Given the description of an element on the screen output the (x, y) to click on. 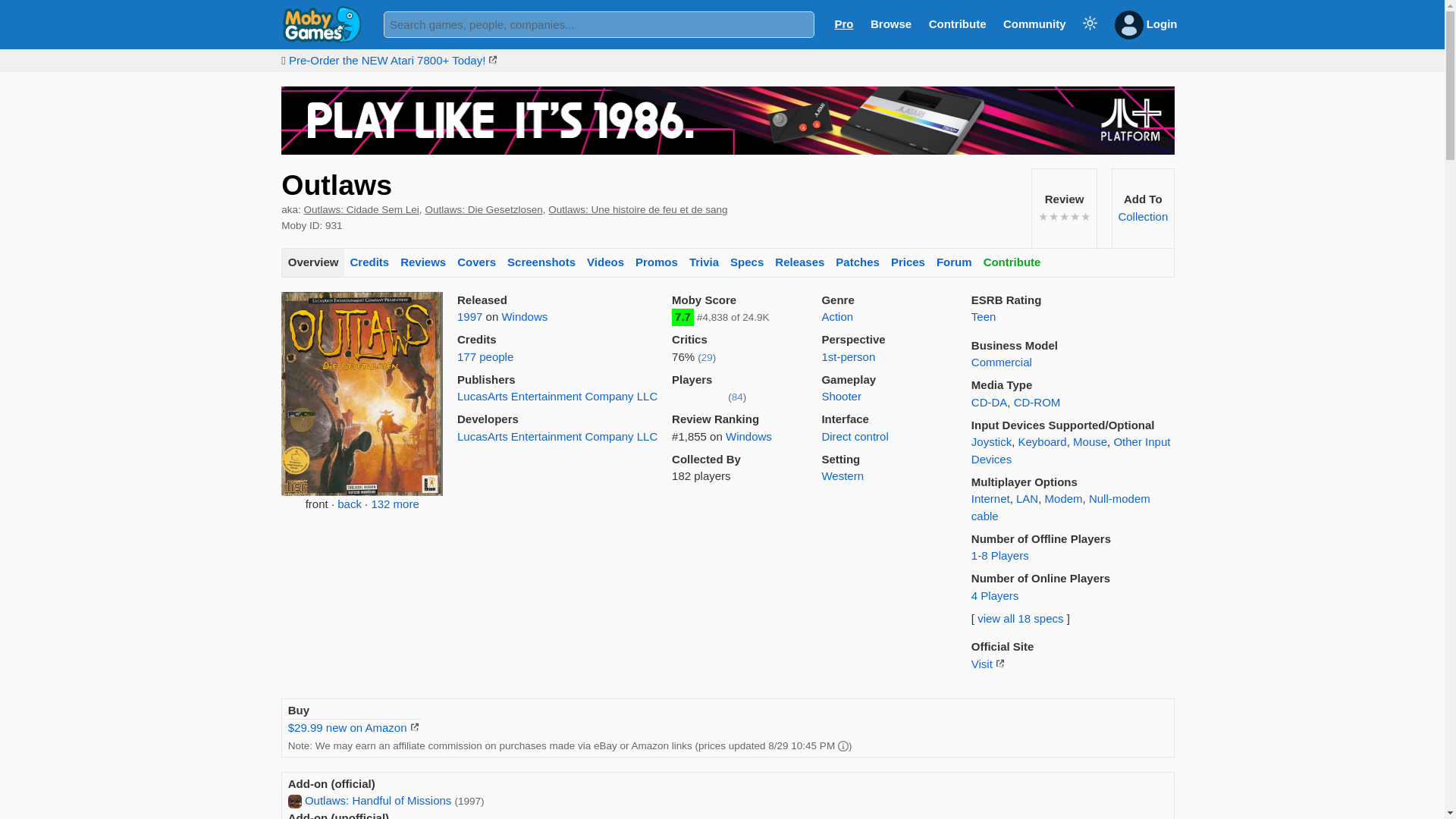
Collection (1142, 215)
Covers (476, 263)
Pro (843, 23)
Reviews (422, 263)
Credits (368, 263)
Overview (312, 263)
